Given the description of an element on the screen output the (x, y) to click on. 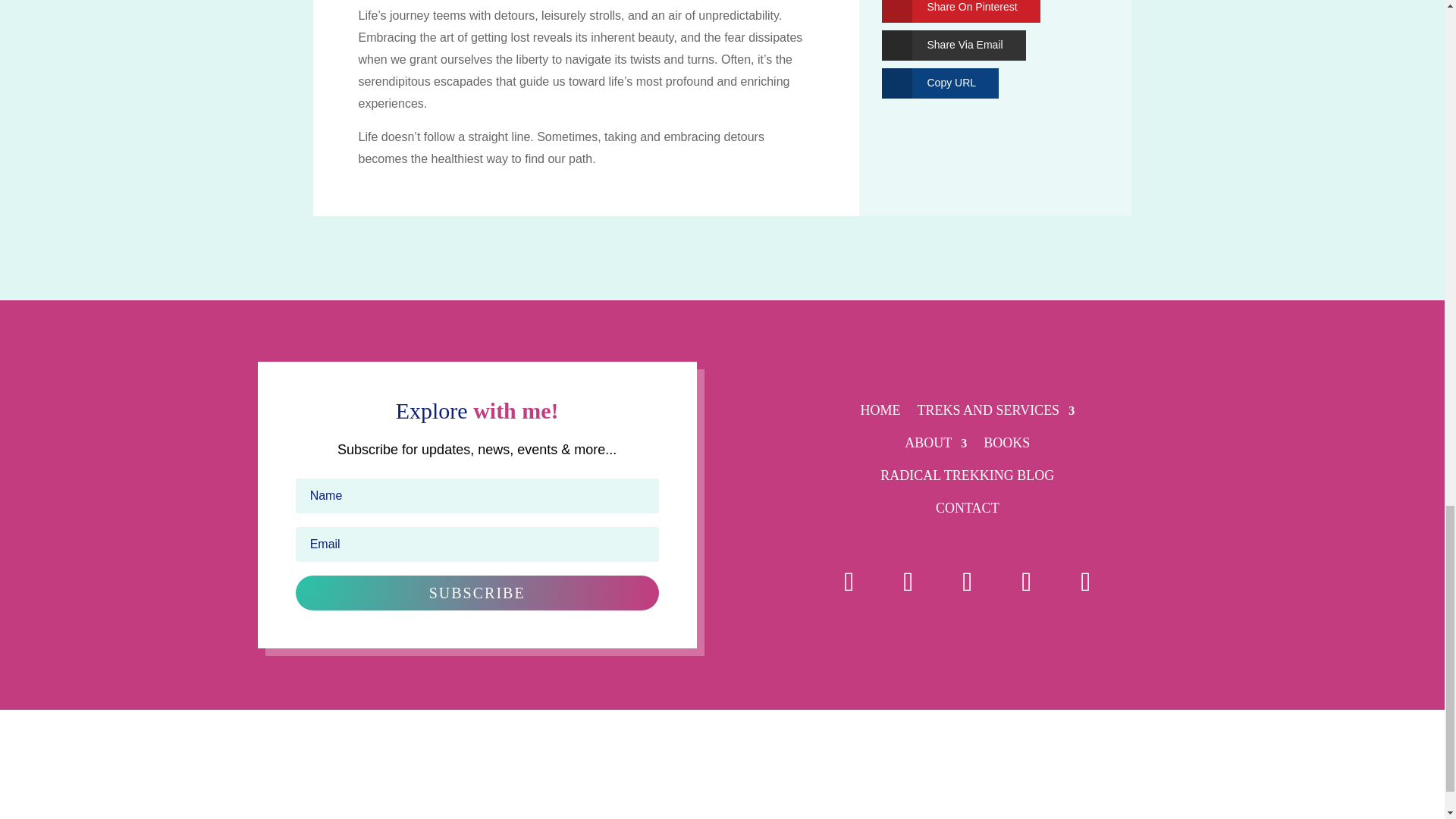
Follow on Facebook (1085, 582)
Follow on LinkedIn (1026, 582)
Follow on X (849, 582)
Follow on MySpace (967, 582)
Follow on Instagram (908, 582)
Share Via Email (941, 45)
Copy URL (927, 82)
Share On Pinterest (948, 11)
SUBSCRIBE (477, 592)
